Given the description of an element on the screen output the (x, y) to click on. 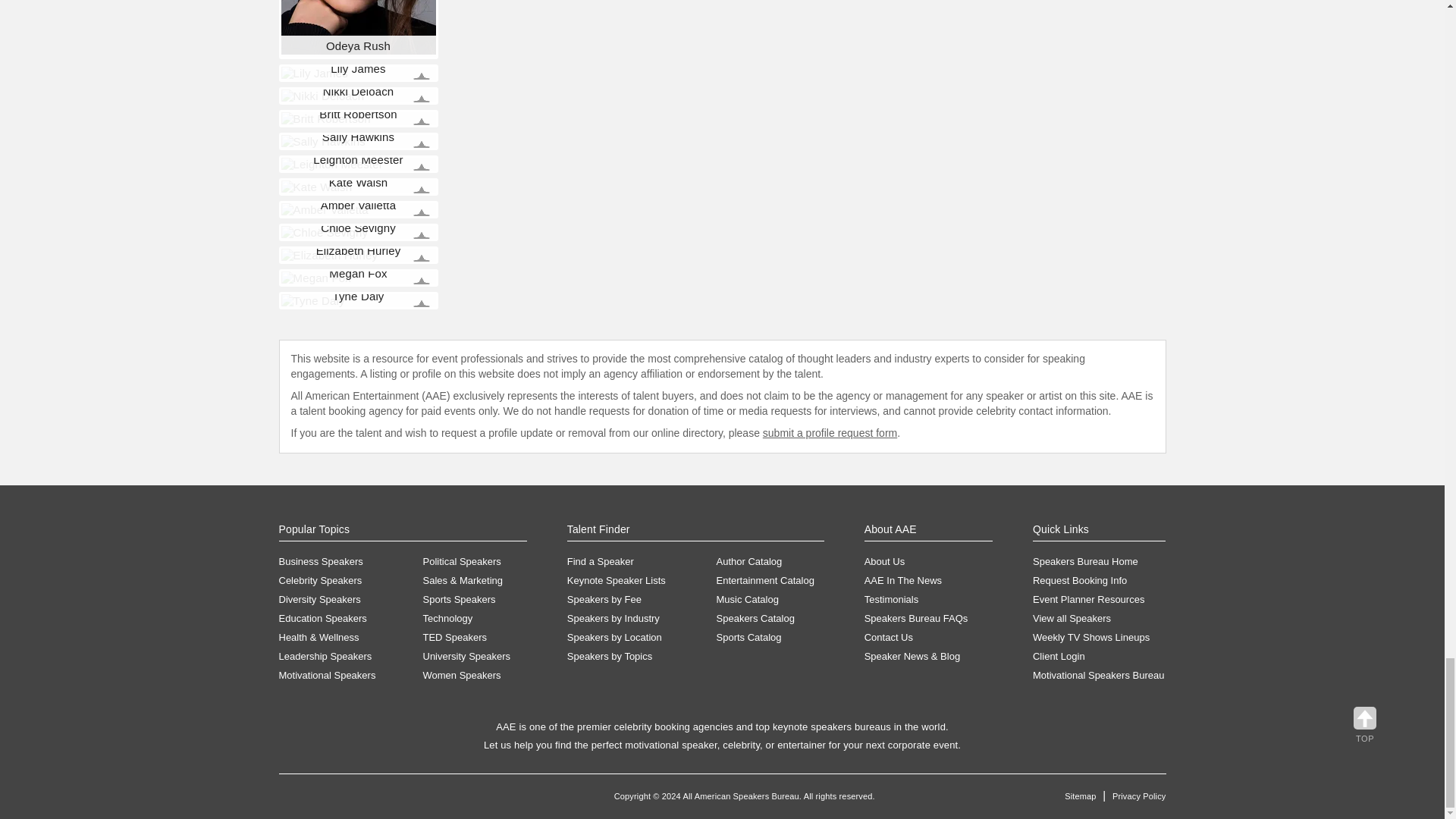
Lily James (314, 72)
Odeya Rush (358, 27)
